Given the description of an element on the screen output the (x, y) to click on. 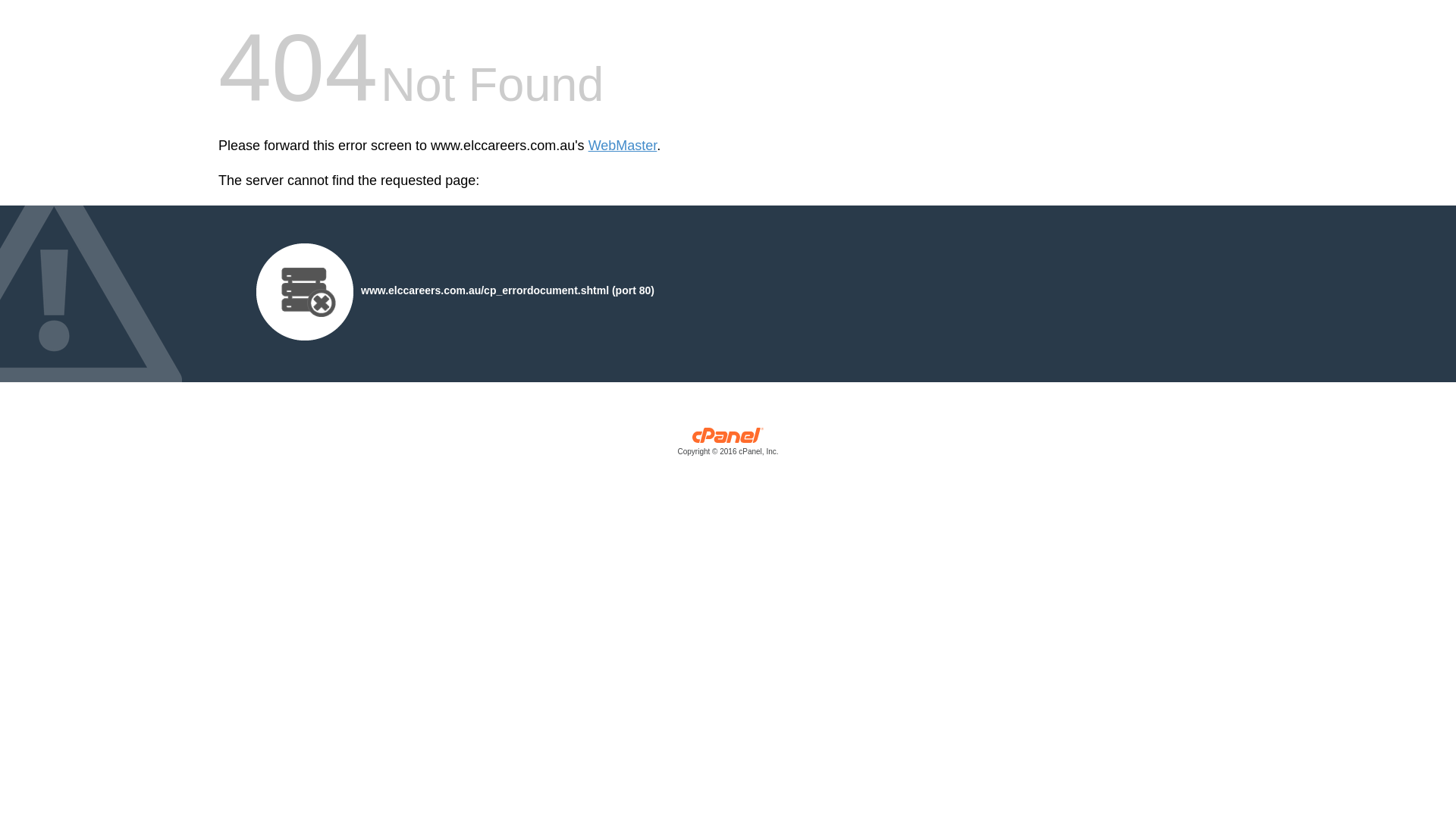
WebMaster Element type: text (622, 145)
